Given the description of an element on the screen output the (x, y) to click on. 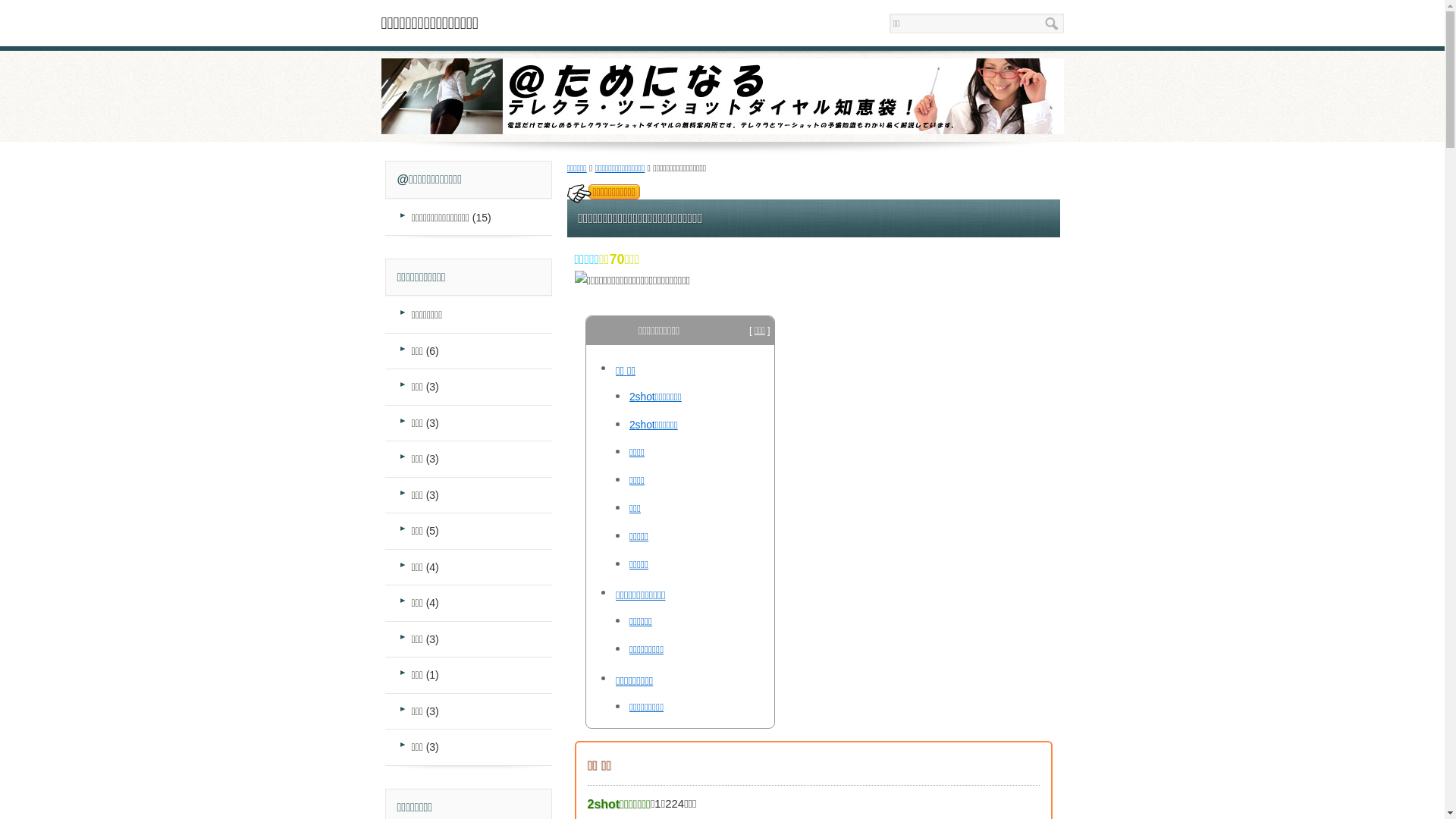
../denwabangou-select Element type: hover (592, 190)
